Given the description of an element on the screen output the (x, y) to click on. 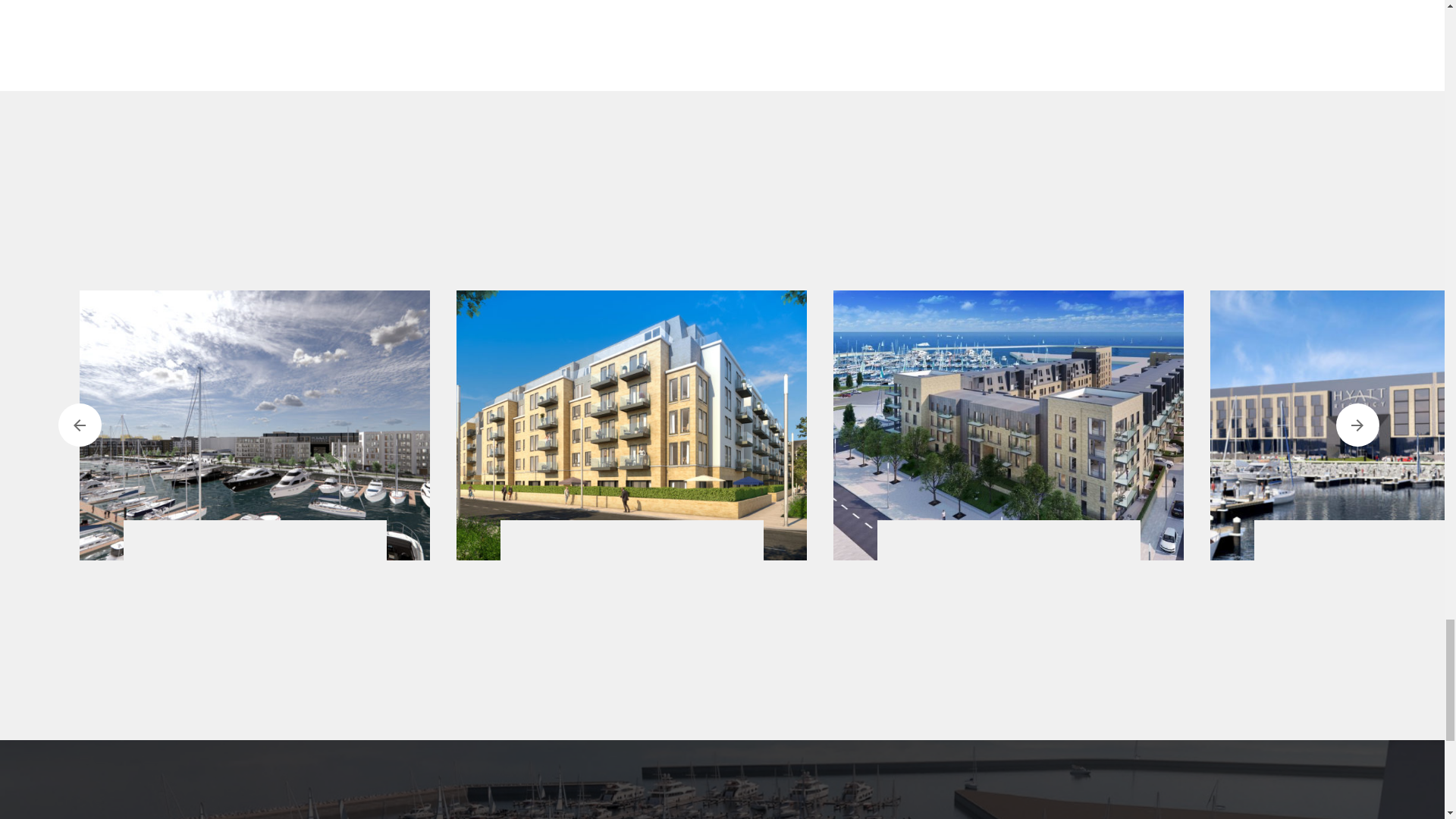
Previous (79, 424)
